Given the description of an element on the screen output the (x, y) to click on. 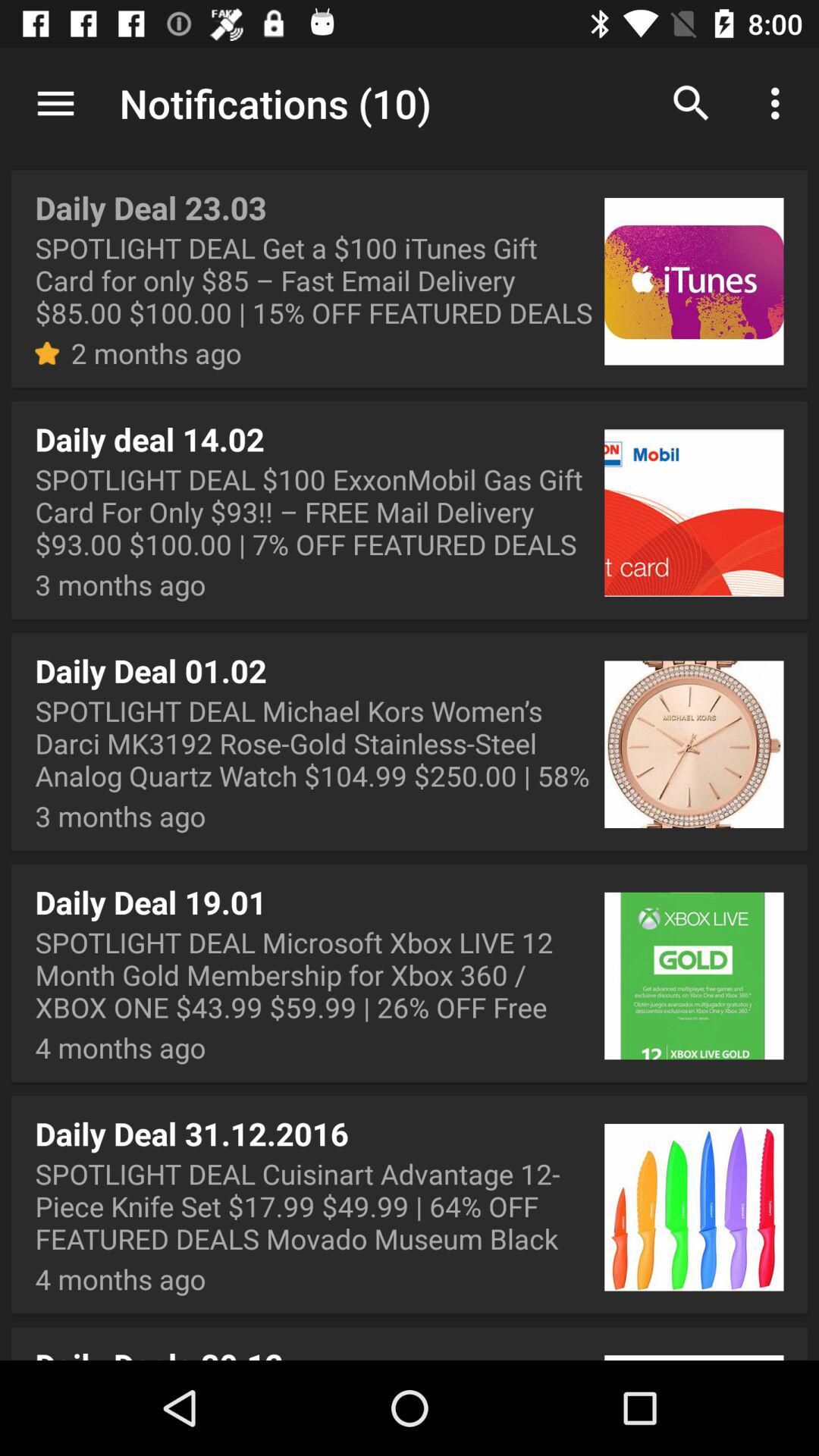
select the 2nd heading on the web page (409, 510)
click the search button on the web page (691, 103)
